Given the description of an element on the screen output the (x, y) to click on. 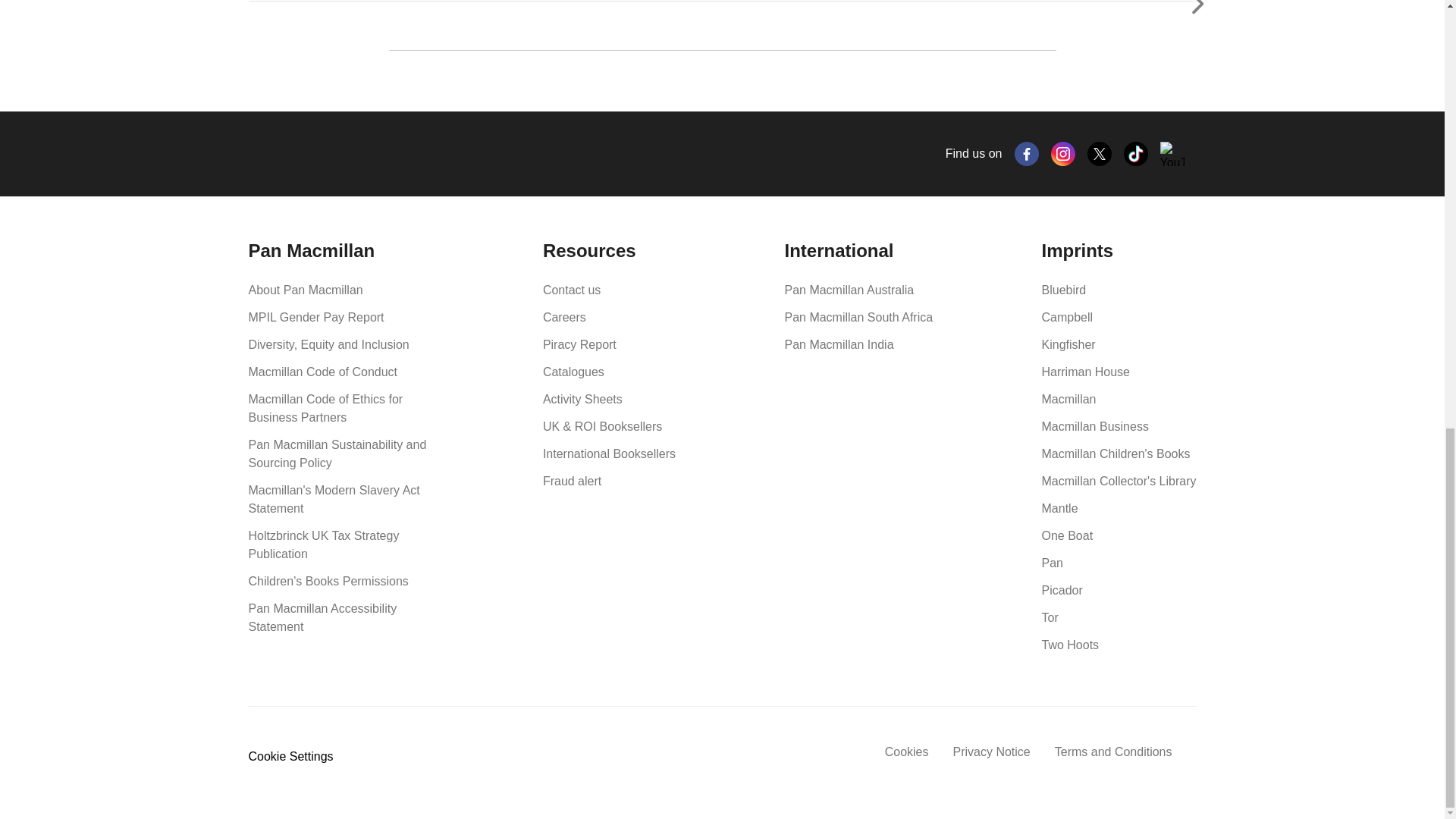
TikTok (1136, 153)
Instagram (1063, 153)
YouTube (1172, 153)
Facebook (1026, 153)
